Given the description of an element on the screen output the (x, y) to click on. 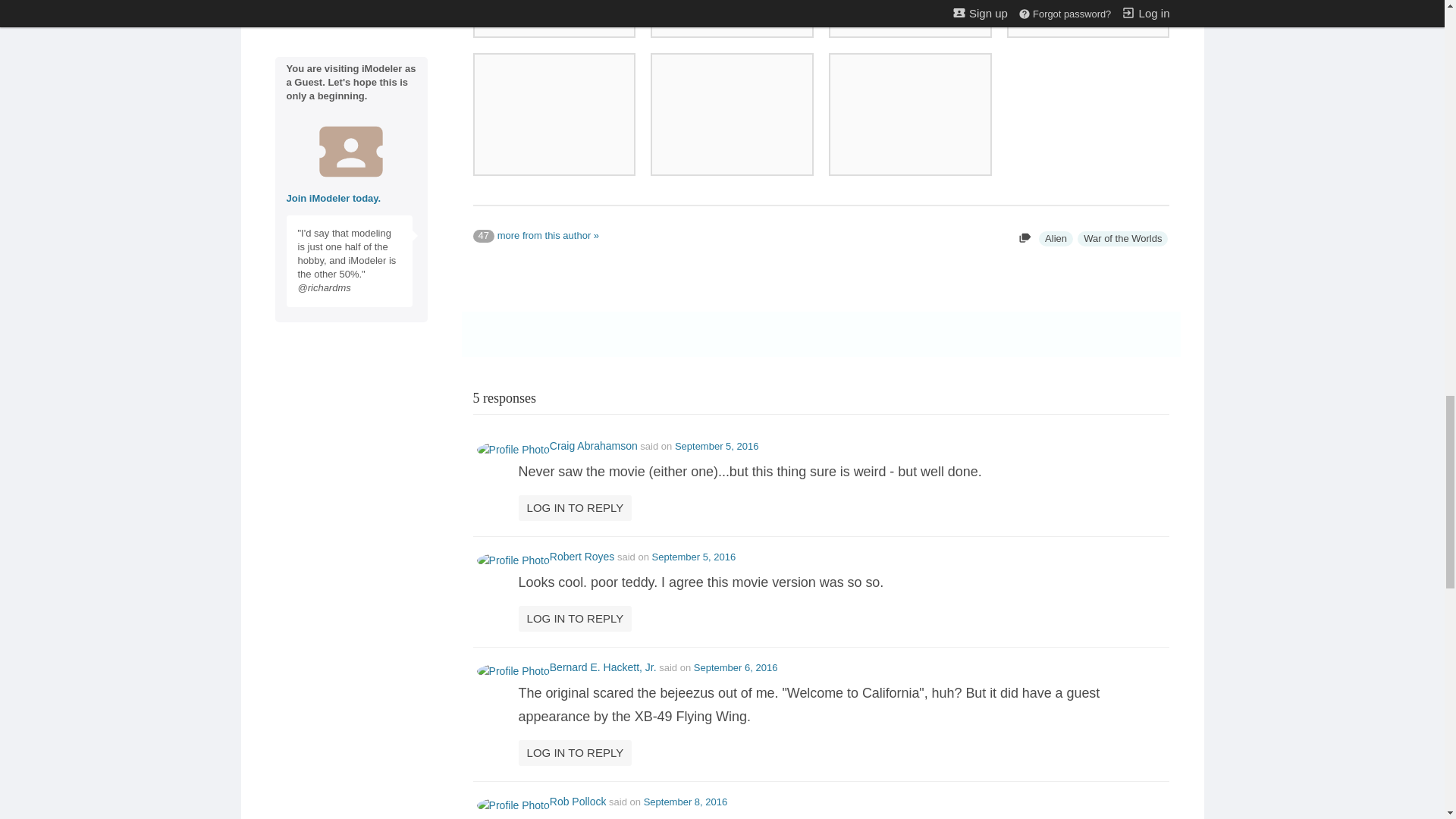
Alien (1056, 238)
War of the Worlds (1122, 238)
